Given the description of an element on the screen output the (x, y) to click on. 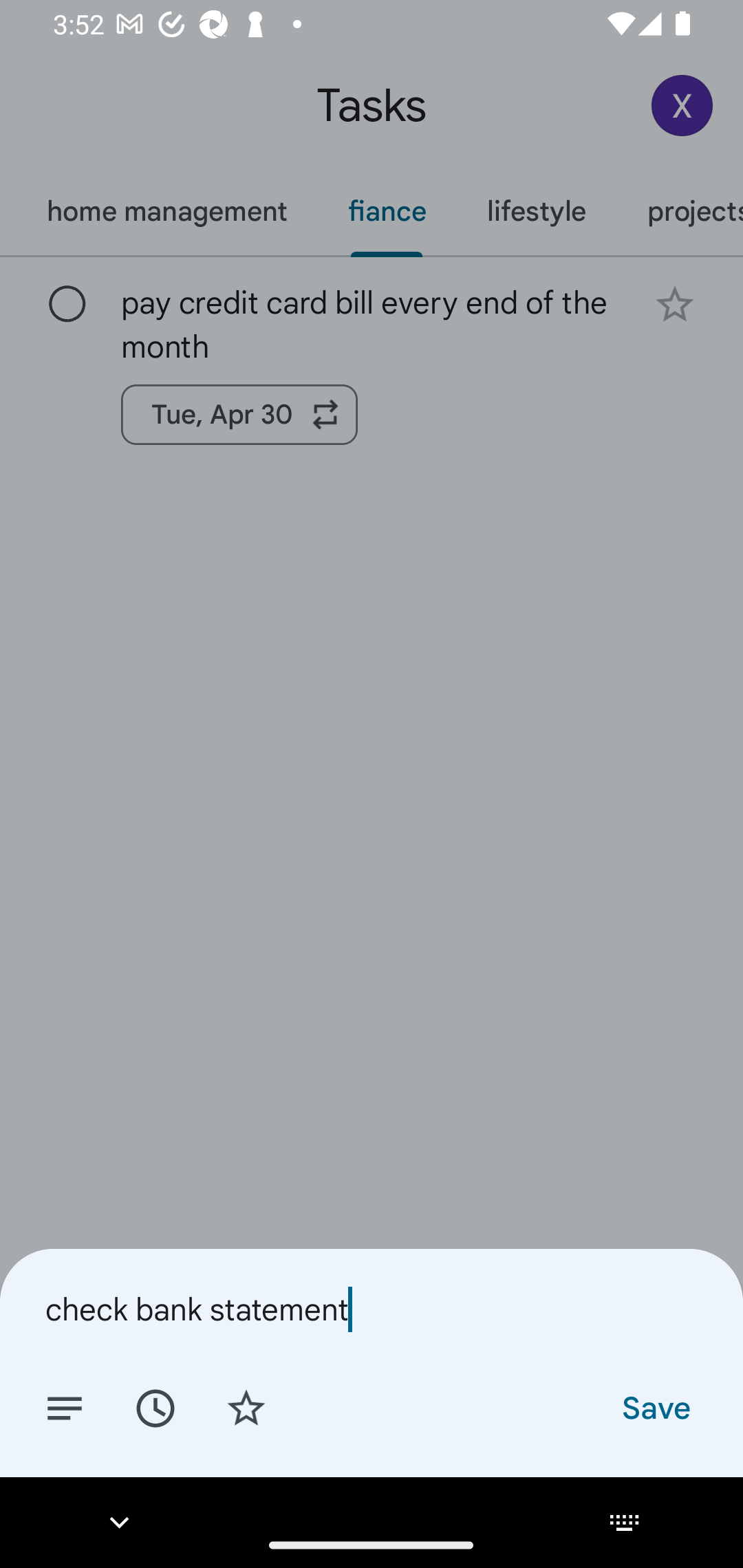
check bank statement (371, 1308)
Save (655, 1407)
Add details (64, 1407)
Set date/time (154, 1407)
Add star (245, 1407)
